Given the description of an element on the screen output the (x, y) to click on. 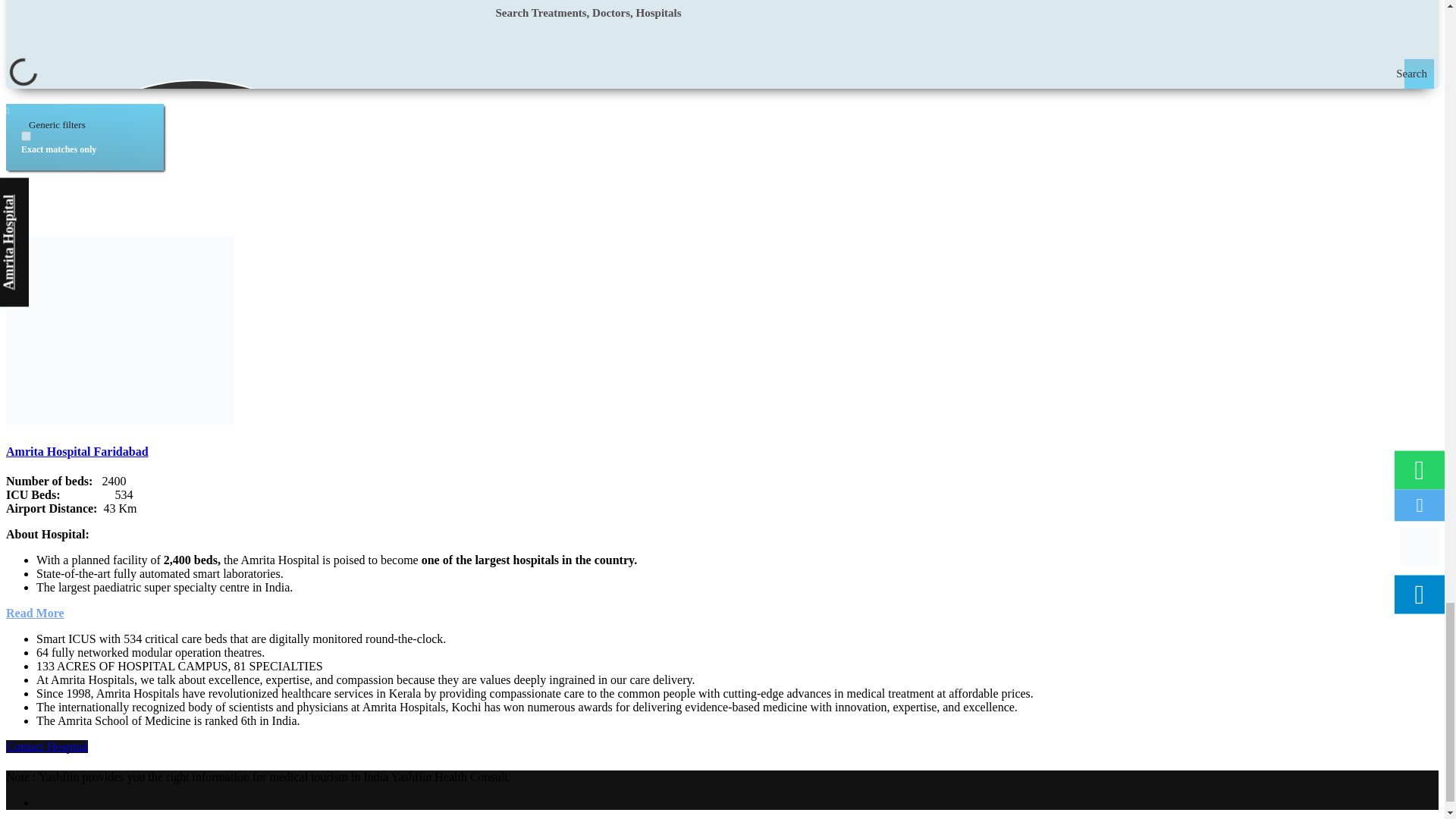
Read More (34, 612)
Contact Hospital (46, 746)
Amrita Hospital Faridabad (76, 451)
exact (25, 135)
